Given the description of an element on the screen output the (x, y) to click on. 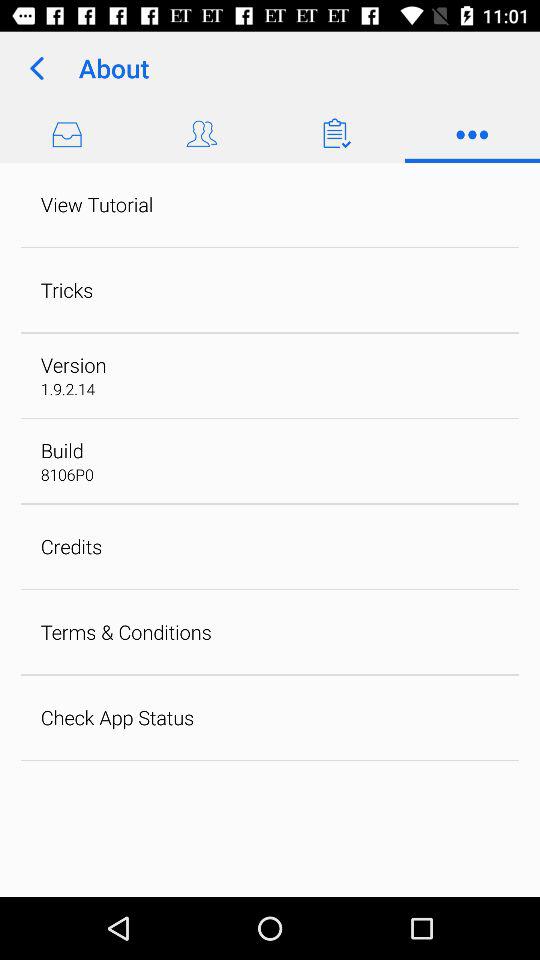
jump until build icon (61, 450)
